Given the description of an element on the screen output the (x, y) to click on. 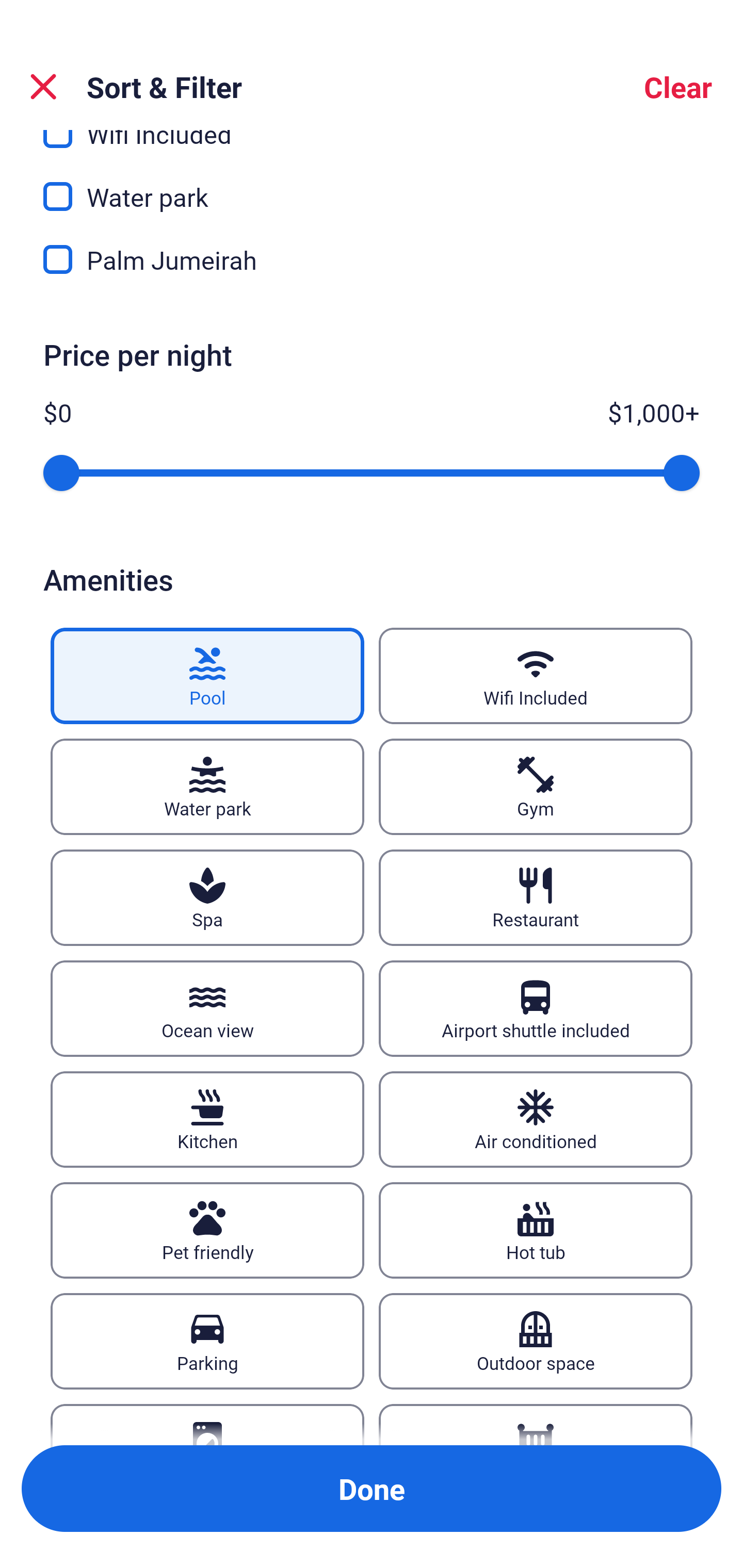
Close Sort and Filter (43, 86)
Clear (677, 86)
Water park, Water park (371, 184)
Palm Jumeirah, Palm Jumeirah (371, 259)
Pool (207, 675)
Wifi Included (535, 675)
Water park (207, 786)
Gym (535, 786)
Spa (207, 897)
Restaurant (535, 897)
Ocean view (207, 1007)
Airport shuttle included (535, 1007)
Kitchen (207, 1119)
Air conditioned (535, 1119)
Pet friendly (207, 1229)
Hot tub (535, 1229)
Parking (207, 1341)
Outdoor space (535, 1341)
Apply and close Sort and Filter Done (371, 1488)
